Given the description of an element on the screen output the (x, y) to click on. 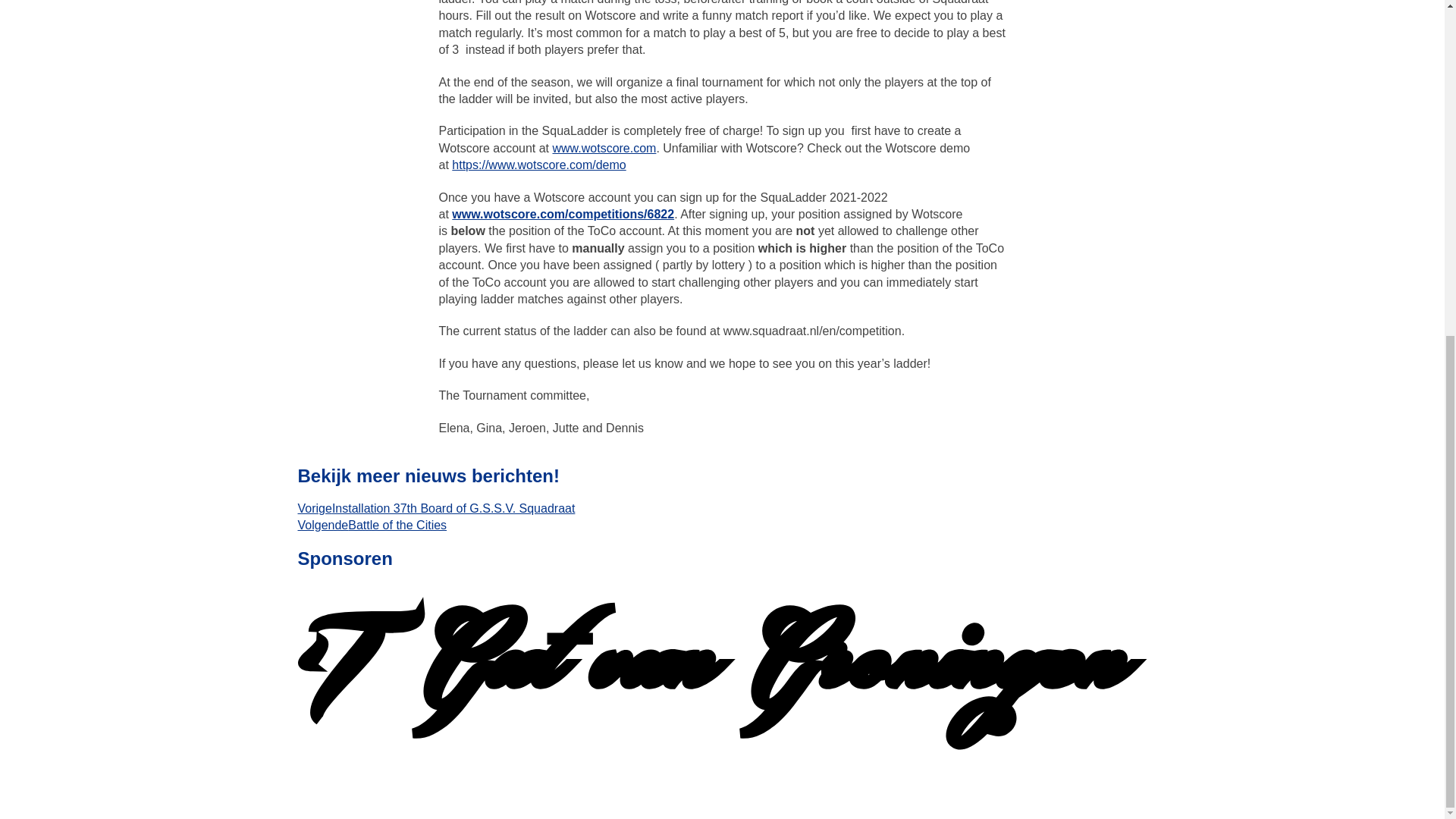
VolgendeBattle of the Cities (371, 524)
www.wotscore.com (603, 147)
VorigeInstallation 37th Board of G.S.S.V. Squadraat (436, 508)
